Given the description of an element on the screen output the (x, y) to click on. 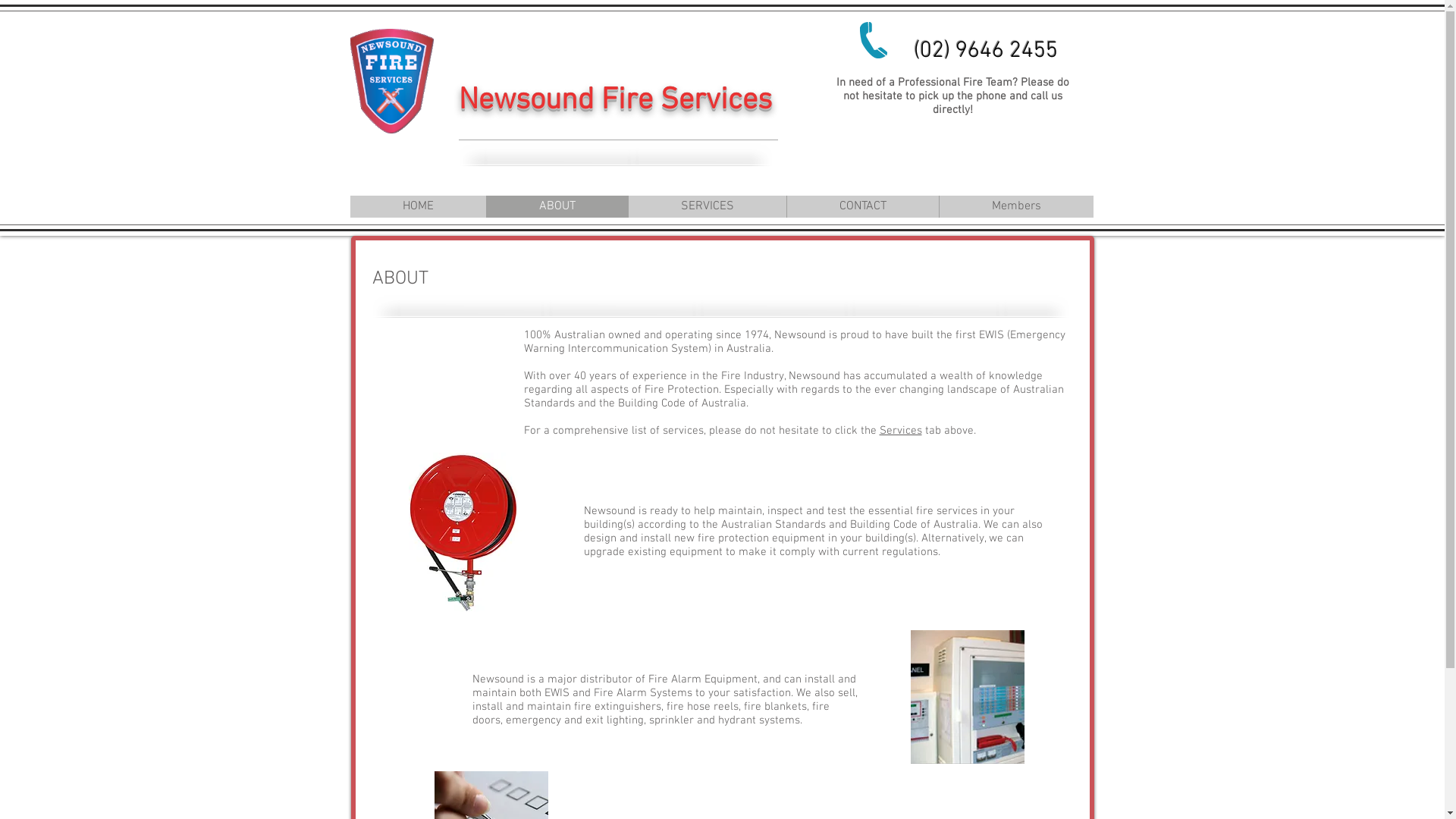
ABOUT Element type: text (556, 206)
Services Element type: text (900, 430)
CONTACT Element type: text (861, 206)
SERVICES Element type: text (706, 206)
HOME Element type: text (418, 206)
Members Element type: text (1015, 206)
Newsound Fire Services Element type: text (614, 100)
